Given the description of an element on the screen output the (x, y) to click on. 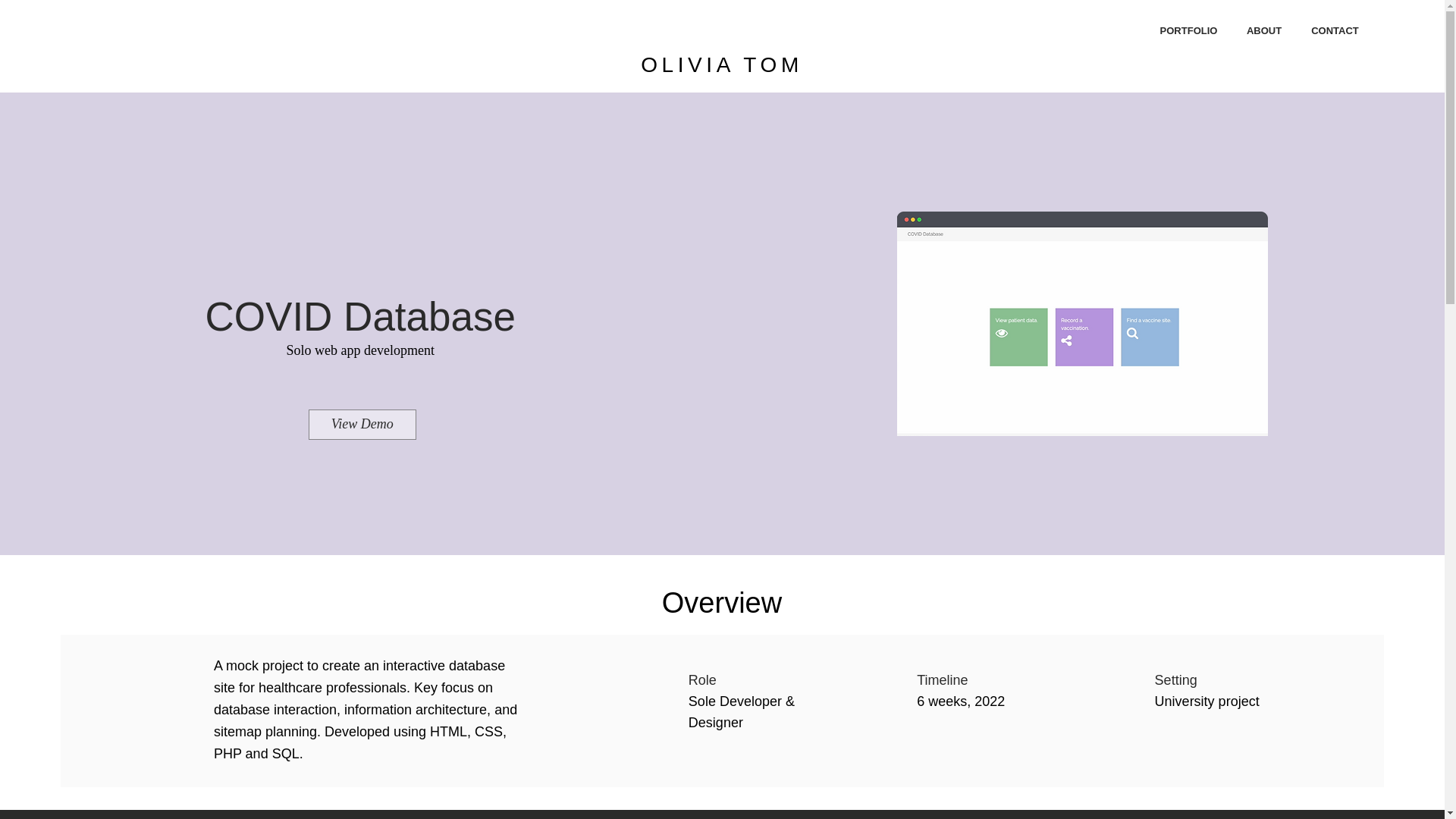
OLIVIA TOM (721, 64)
ABOUT (1264, 30)
View Demo (362, 424)
COVID browser.png (1082, 323)
CONTACT (1335, 30)
PORTFOLIO (1188, 30)
